Given the description of an element on the screen output the (x, y) to click on. 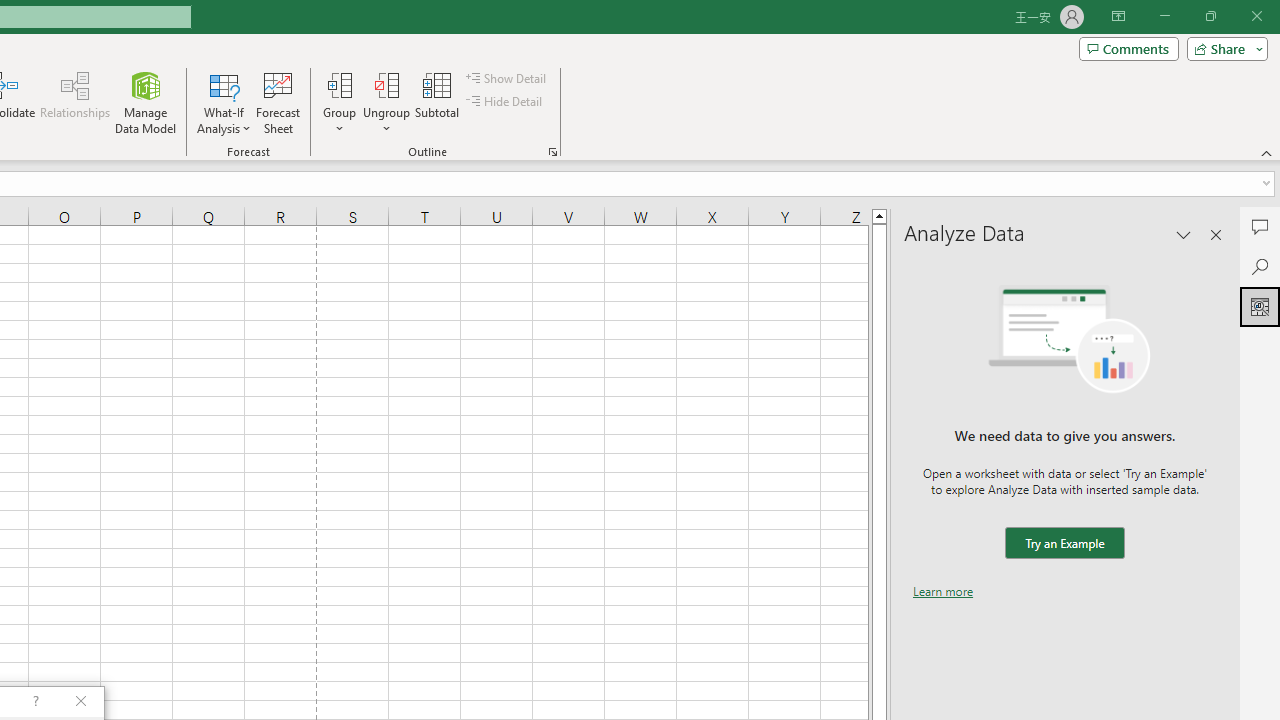
Learn more (943, 591)
Forecast Sheet (278, 102)
Manage Data Model (145, 102)
Show Detail (507, 78)
What-If Analysis (223, 102)
Subtotal (437, 102)
We need data to give you answers. Try an Example (1064, 543)
Search (1260, 266)
Relationships (75, 102)
